Given the description of an element on the screen output the (x, y) to click on. 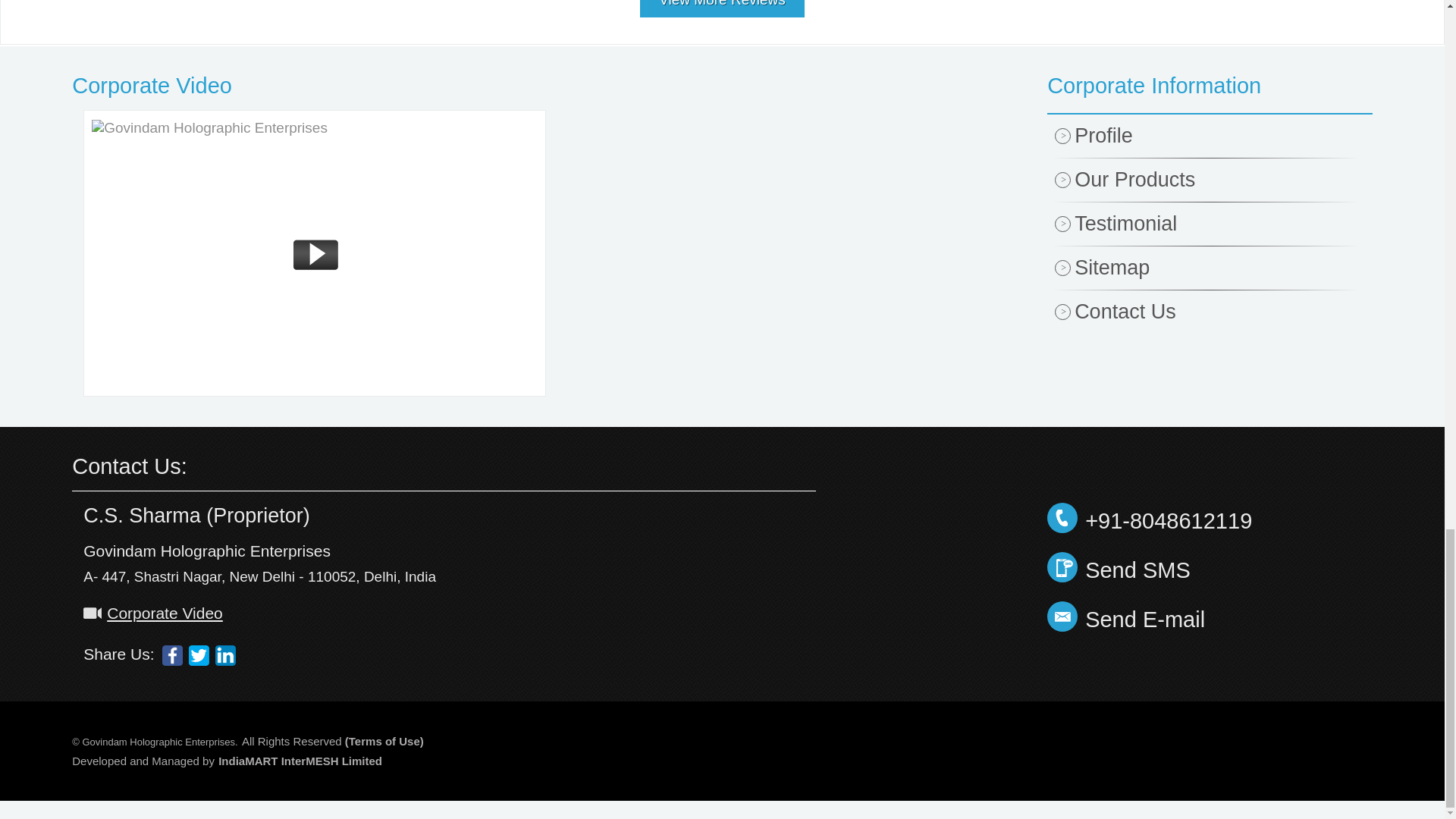
T (199, 655)
L (225, 655)
View More Reviews (721, 14)
Corporate Video (494, 85)
Corporate Video (152, 612)
F (172, 655)
Contact Us: (129, 466)
IndiaMART InterMESH Limited (299, 760)
